Given the description of an element on the screen output the (x, y) to click on. 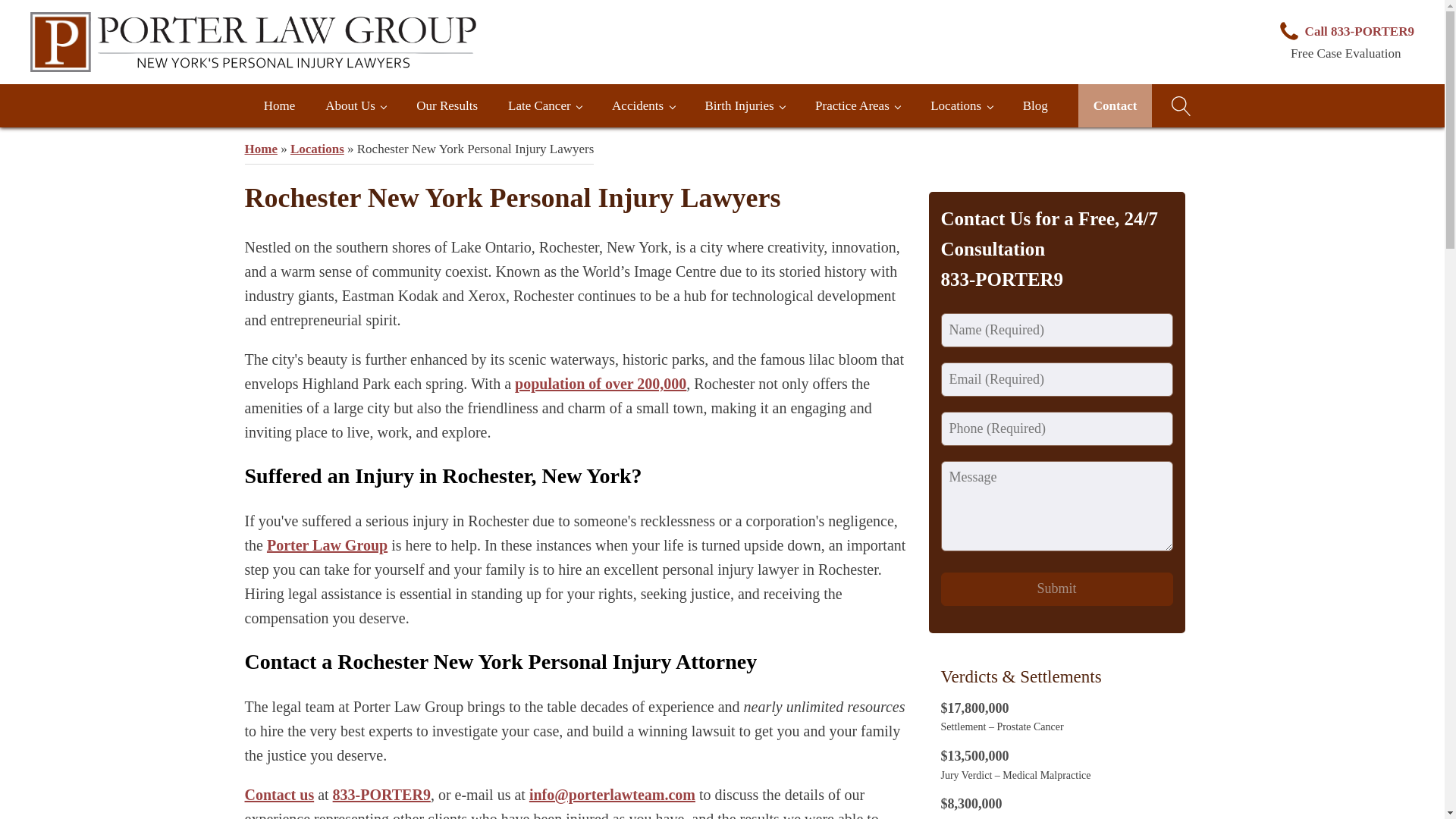
Birth Injuries (743, 105)
About Us (355, 105)
Practice Areas (857, 105)
Home (279, 105)
Call 833-PORTER9 (1345, 31)
Accidents (642, 105)
Late Cancer (544, 105)
Our Results (447, 105)
